Given the description of an element on the screen output the (x, y) to click on. 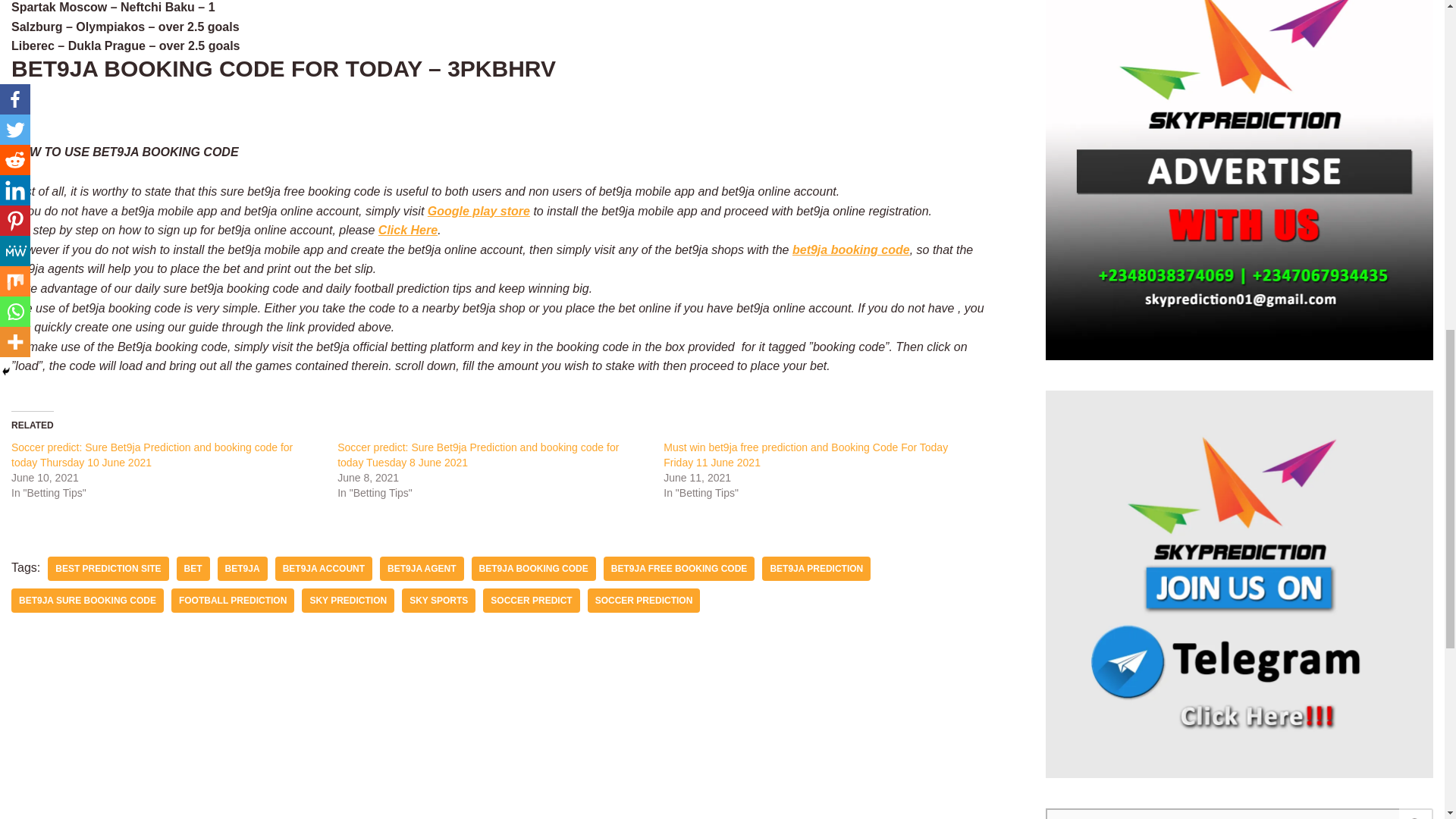
Spartak Moscow - Neftchi Baku (103, 6)
Liberec - Dukla Prague (78, 45)
Salzburg - Olympiakos (77, 26)
